Given the description of an element on the screen output the (x, y) to click on. 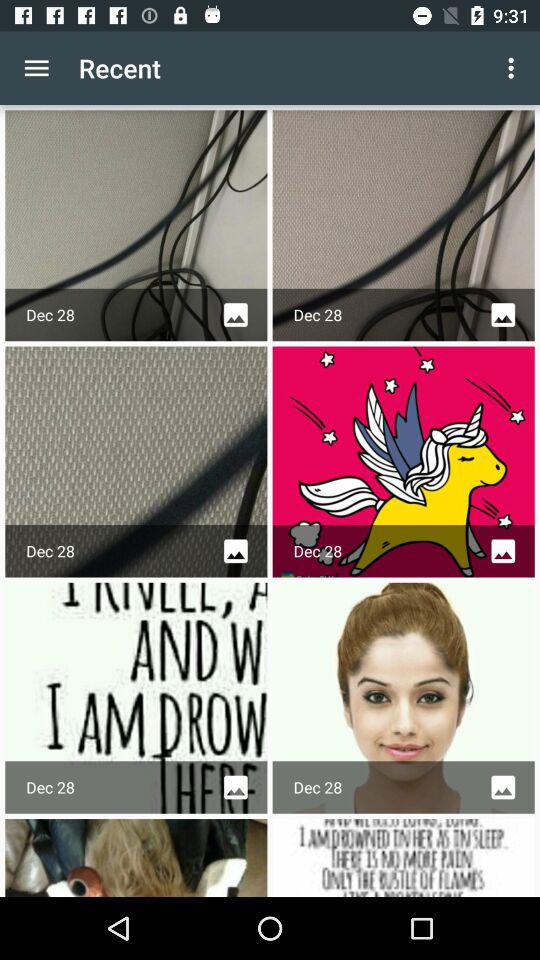
click icon to the left of the recent icon (36, 68)
